Given the description of an element on the screen output the (x, y) to click on. 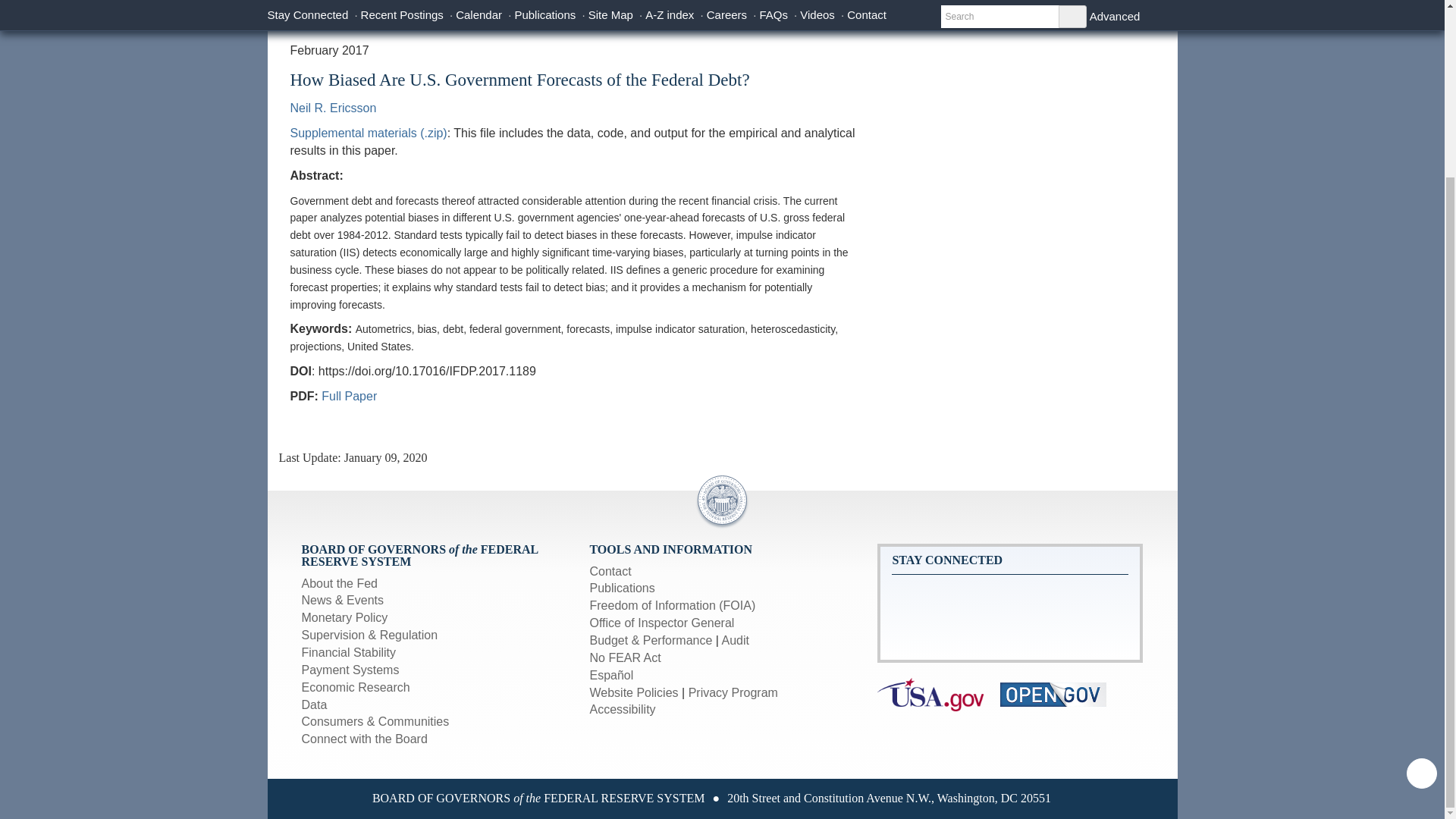
Scroll To Top (1421, 557)
Link to Open.gov (1059, 693)
Link to USA.gov (938, 693)
